Given the description of an element on the screen output the (x, y) to click on. 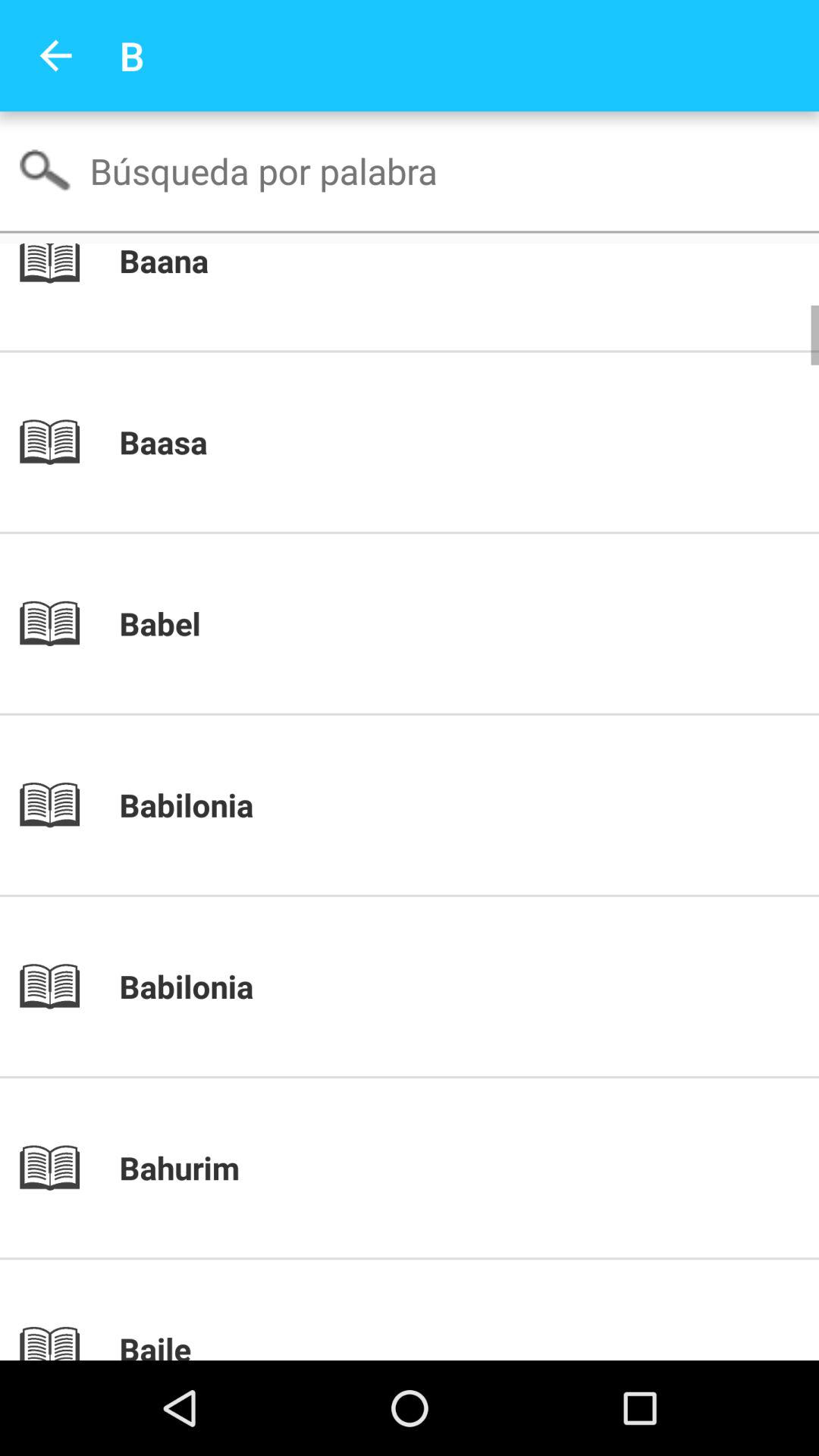
open bahurim icon (435, 1167)
